Given the description of an element on the screen output the (x, y) to click on. 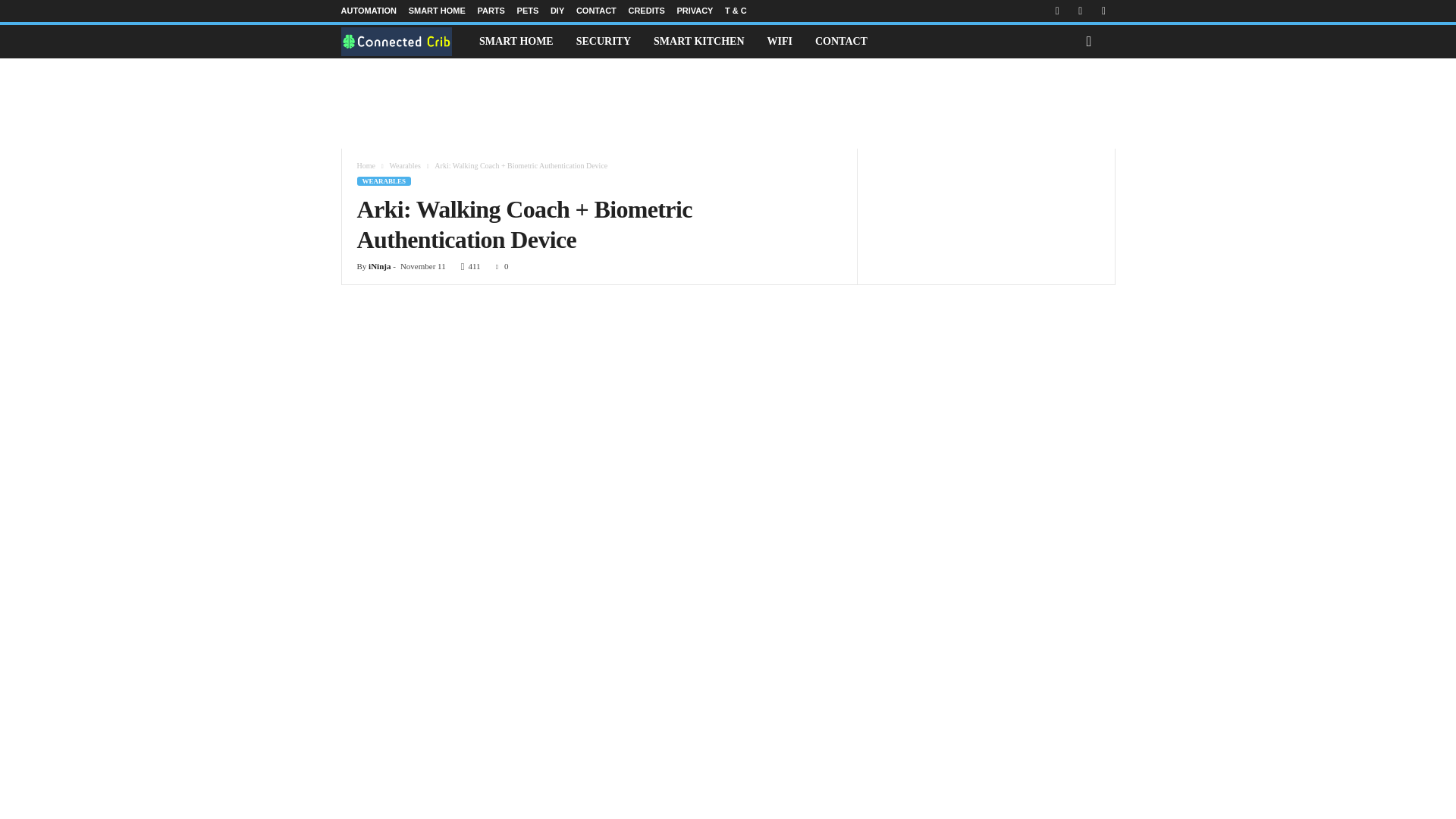
PRIVACY (695, 10)
SMART HOME (515, 41)
Connected Crib (404, 41)
CONTACT (595, 10)
PETS (527, 10)
AUTOMATION (368, 10)
PARTS (490, 10)
CREDITS (645, 10)
SMART HOME (437, 10)
DIY (557, 10)
